Given the description of an element on the screen output the (x, y) to click on. 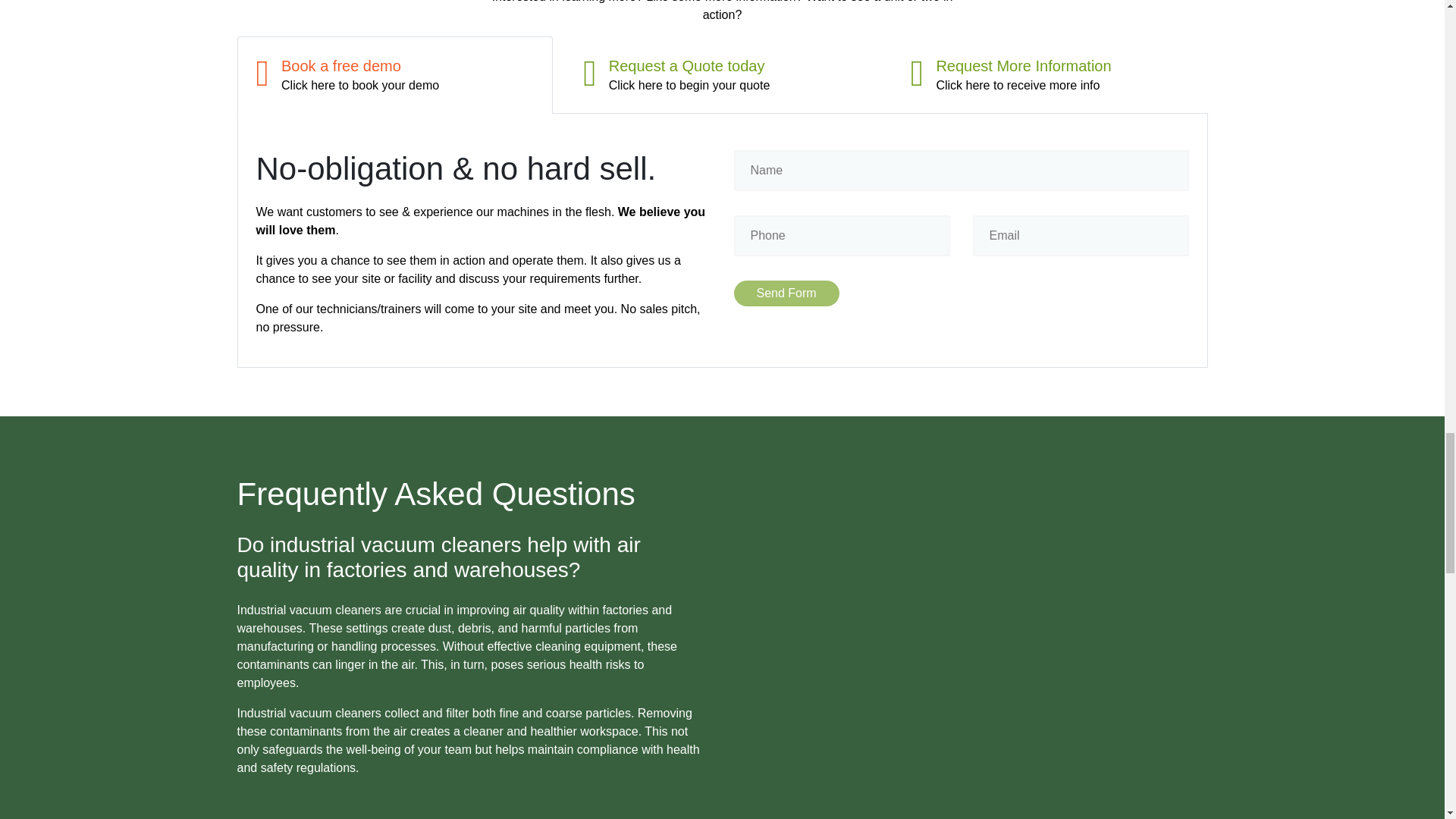
Send Form (786, 293)
